Given the description of an element on the screen output the (x, y) to click on. 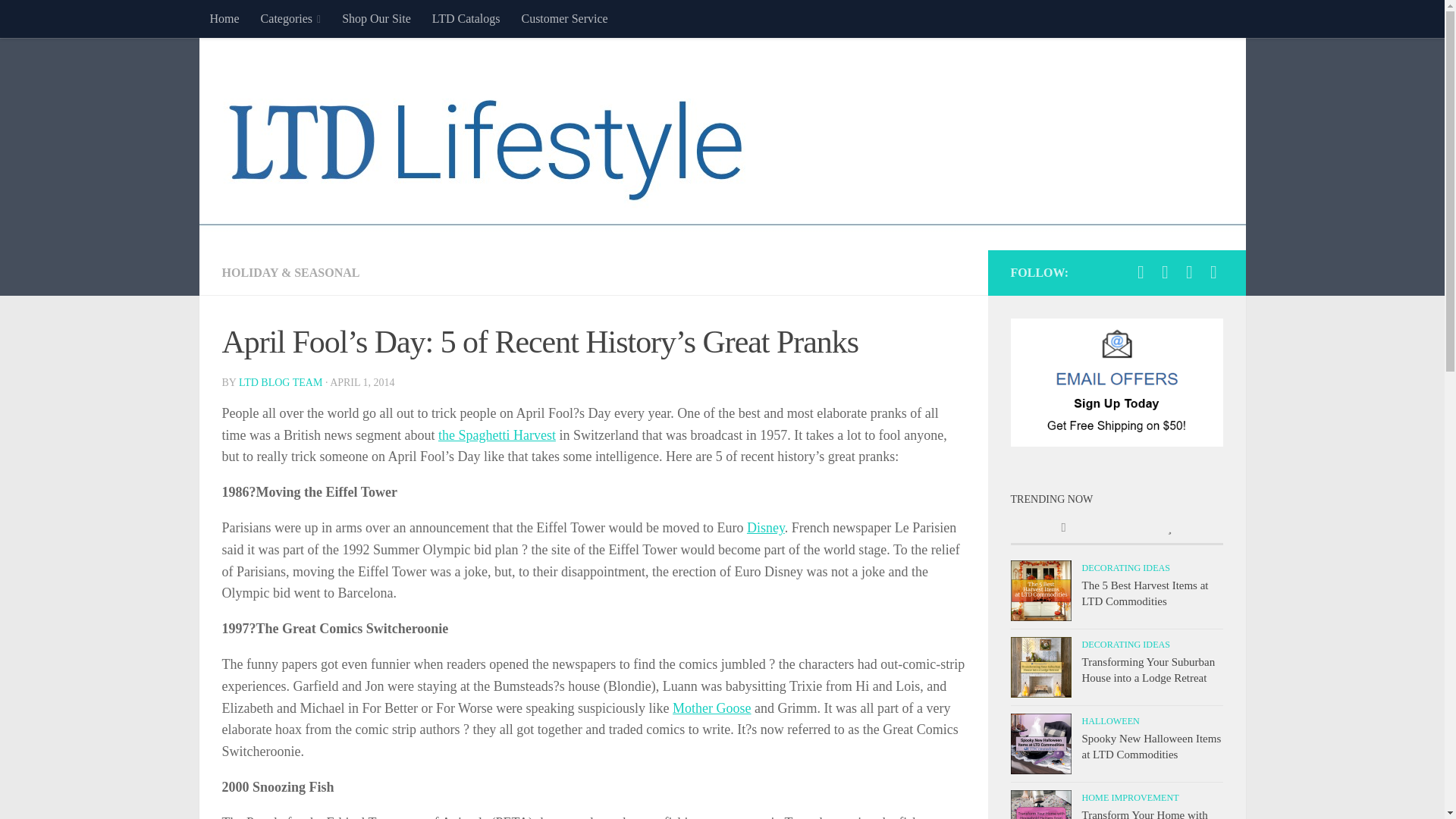
Follow Us On Pinterest (1213, 271)
Customer Service (564, 18)
Recent Posts (1063, 528)
LTD Catalogs (466, 18)
Follow Us On Facebook (1140, 271)
Home (223, 18)
Categories (290, 18)
Follow Us On Twitter (1164, 271)
Posts by LTD Blog Team (279, 382)
Shop Our Site (376, 18)
